Given the description of an element on the screen output the (x, y) to click on. 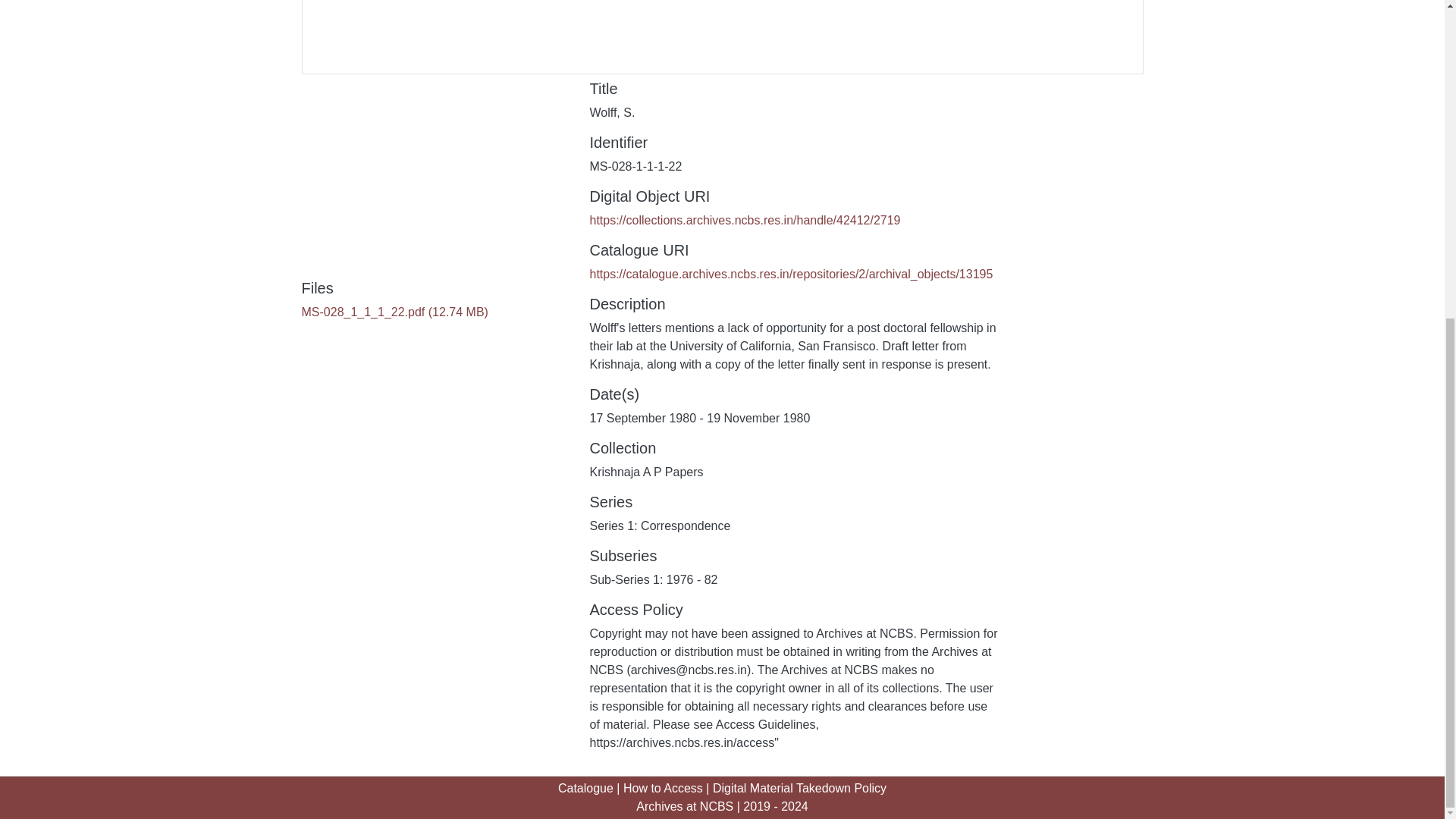
Digital Material Takedown Policy (799, 788)
Catalogue (584, 788)
Archives at NCBS (684, 806)
How to Access (663, 788)
Mirador Viewer (721, 37)
